Given the description of an element on the screen output the (x, y) to click on. 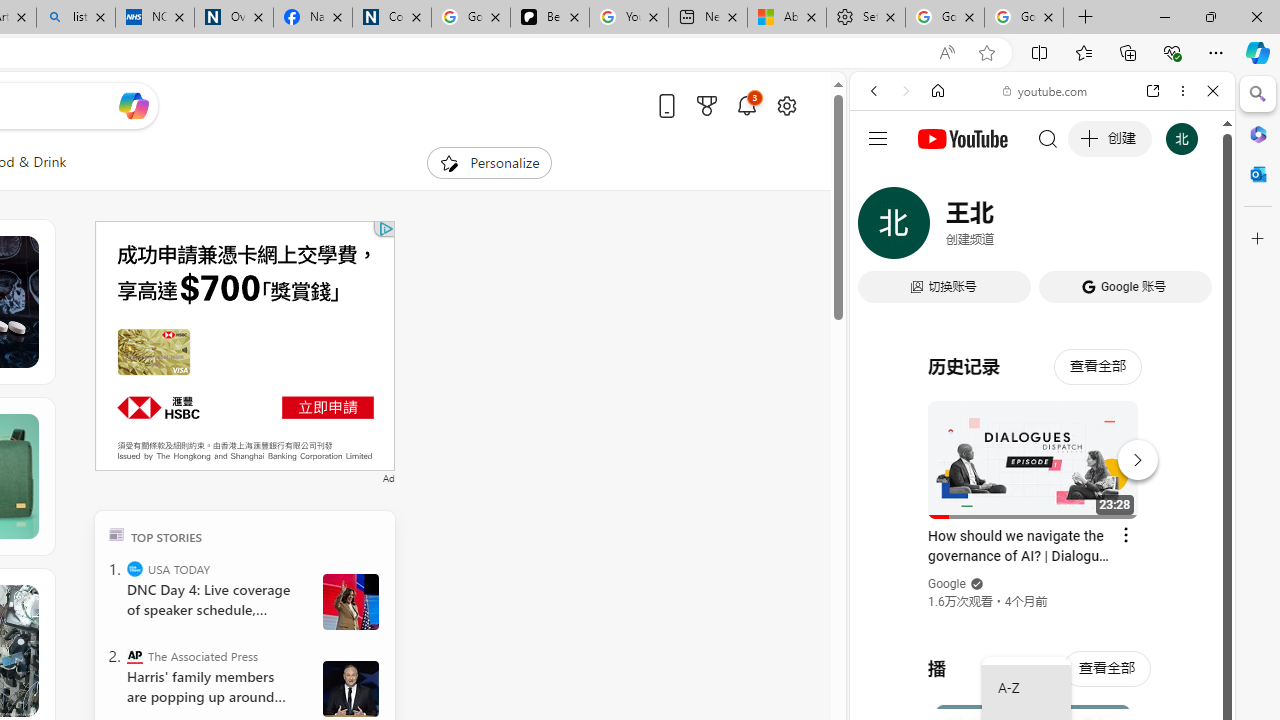
Trailer #2 [HD] (1042, 594)
Google (1042, 494)
TOP (116, 534)
Search Filter, WEB (882, 228)
Personalize (488, 162)
Aberdeen, Hong Kong SAR hourly forecast | Microsoft Weather (786, 17)
